Given the description of an element on the screen output the (x, y) to click on. 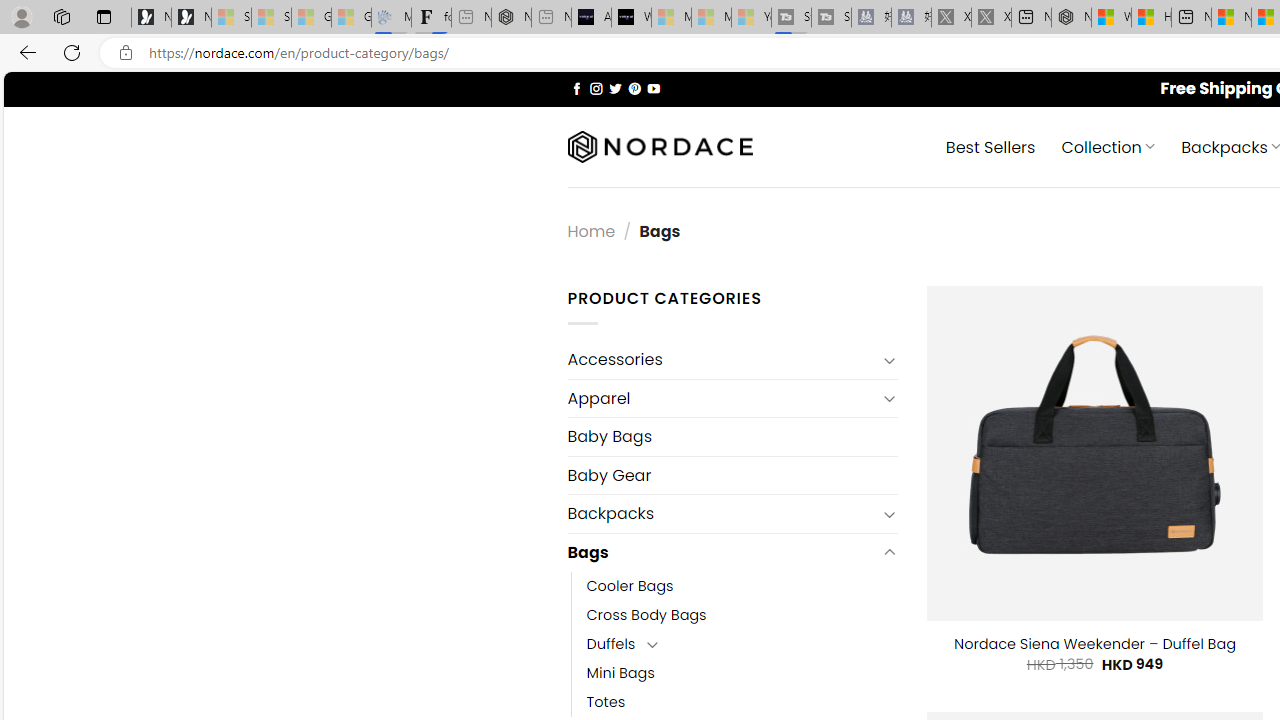
Nordace - My Account (1071, 17)
Mini Bags (620, 673)
Follow on Twitter (615, 88)
Apparel (721, 398)
Backpacks (721, 514)
Totes (742, 701)
Cross Body Bags (742, 614)
